Given the description of an element on the screen output the (x, y) to click on. 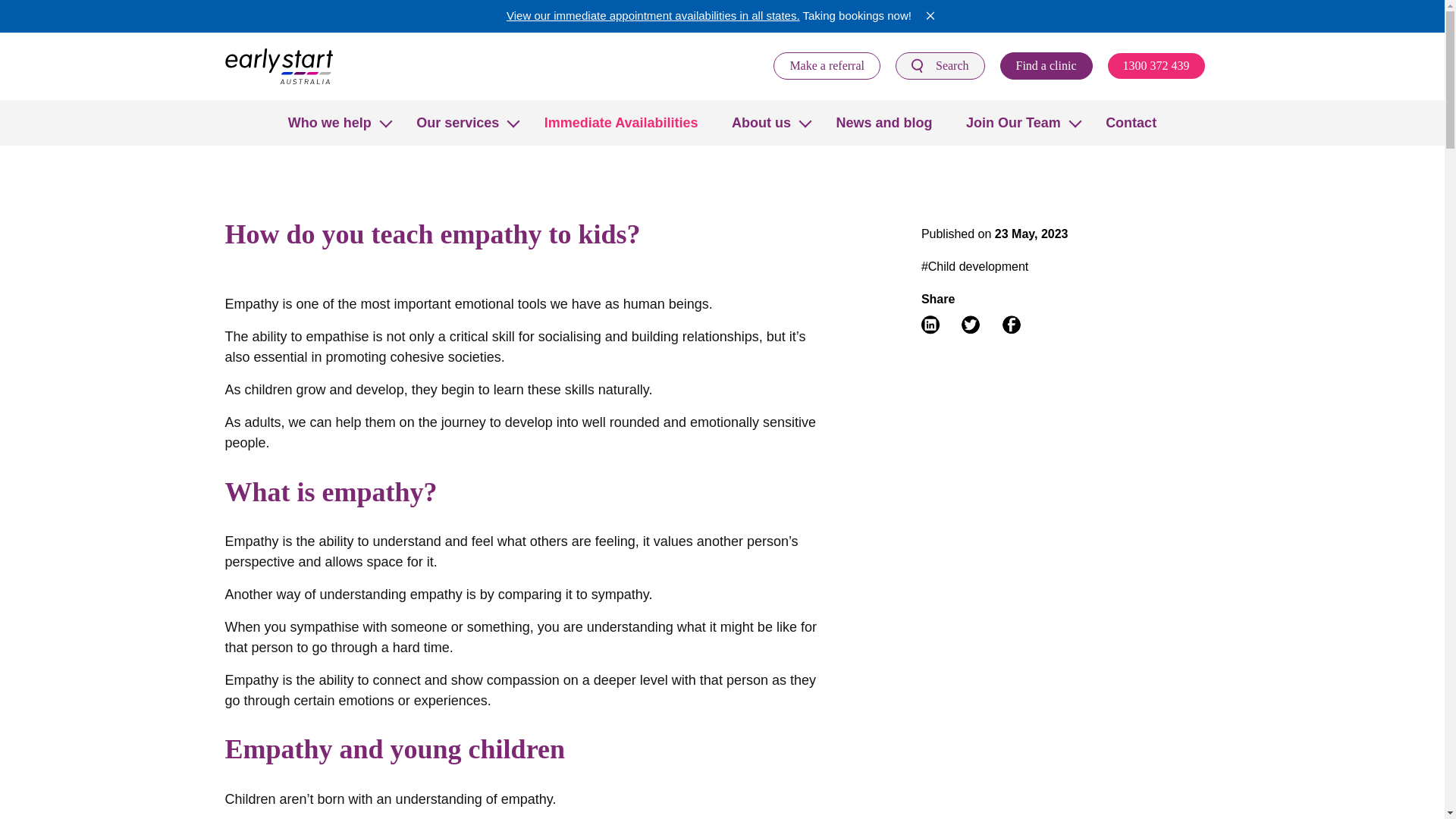
1300 372 439 (1155, 65)
X (930, 15)
Make a referral (826, 65)
Immediate Availabilities (621, 122)
View our immediate appointment availabilities in all states. (652, 15)
Find a clinic (1046, 65)
Search (940, 65)
Our services (457, 122)
Who we help (329, 122)
